Given the description of an element on the screen output the (x, y) to click on. 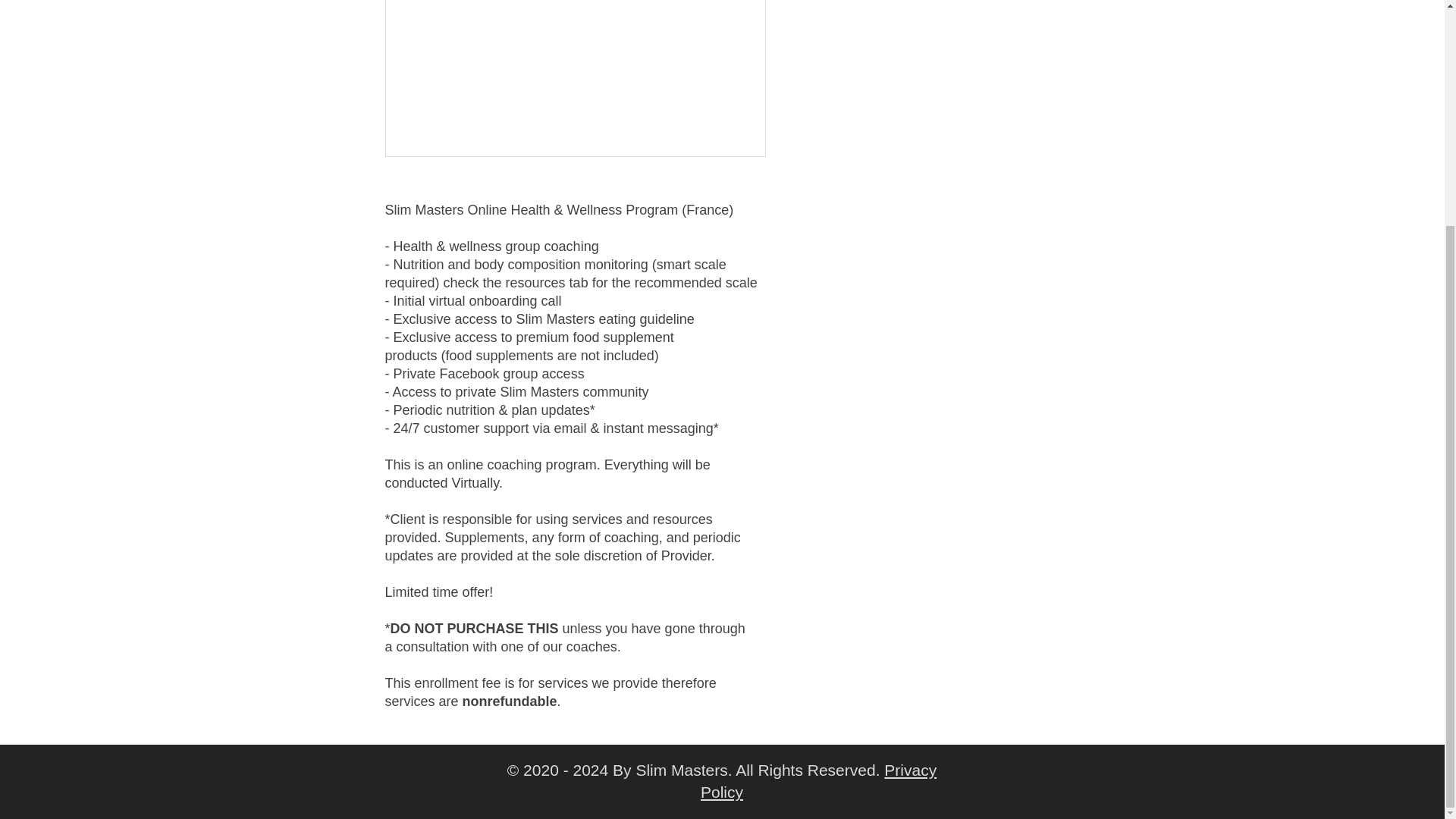
Privacy Policy (818, 780)
